Given the description of an element on the screen output the (x, y) to click on. 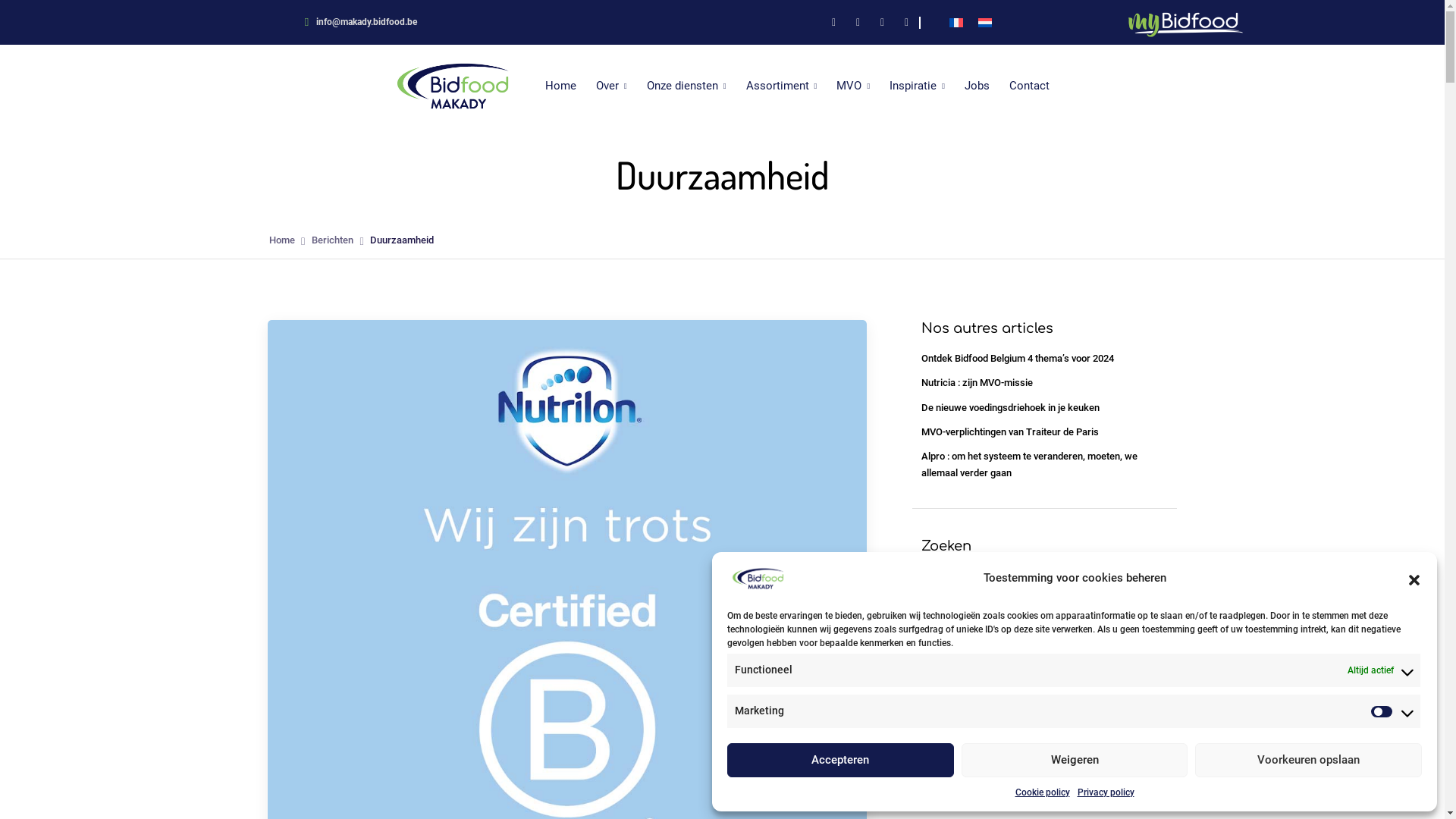
MVO Element type: text (852, 86)
youtube Element type: hover (906, 22)
Voorkeuren opslaan Element type: text (1308, 760)
Nutricia : zijn MVO-missie Element type: text (976, 725)
Privacy policy Element type: text (1104, 792)
Accepteren Element type: text (840, 760)
instagram Element type: hover (882, 22)
Bidfood Makady -  Element type: hover (452, 85)
Onze diensten Element type: text (686, 86)
Cookie policy Element type: text (1041, 792)
Jobs Element type: text (976, 86)
Inspiratie Element type: text (916, 86)
De nieuwe voedingsdriehoek in je keuken Element type: text (1010, 749)
Weigeren Element type: text (1074, 760)
MVO-verplichtingen van Traiteur de Paris Element type: text (1009, 431)
Nutricia : zijn MVO-missie Element type: text (976, 382)
Berichten Element type: text (332, 239)
Home Element type: text (560, 86)
Contact Element type: text (1029, 86)
Home Element type: text (281, 239)
linkedin Element type: hover (858, 22)
Over Element type: text (611, 86)
Assortiment Element type: text (781, 86)
De nieuwe voedingsdriehoek in je keuken Element type: text (1010, 407)
facebook Element type: hover (834, 22)
